Given the description of an element on the screen output the (x, y) to click on. 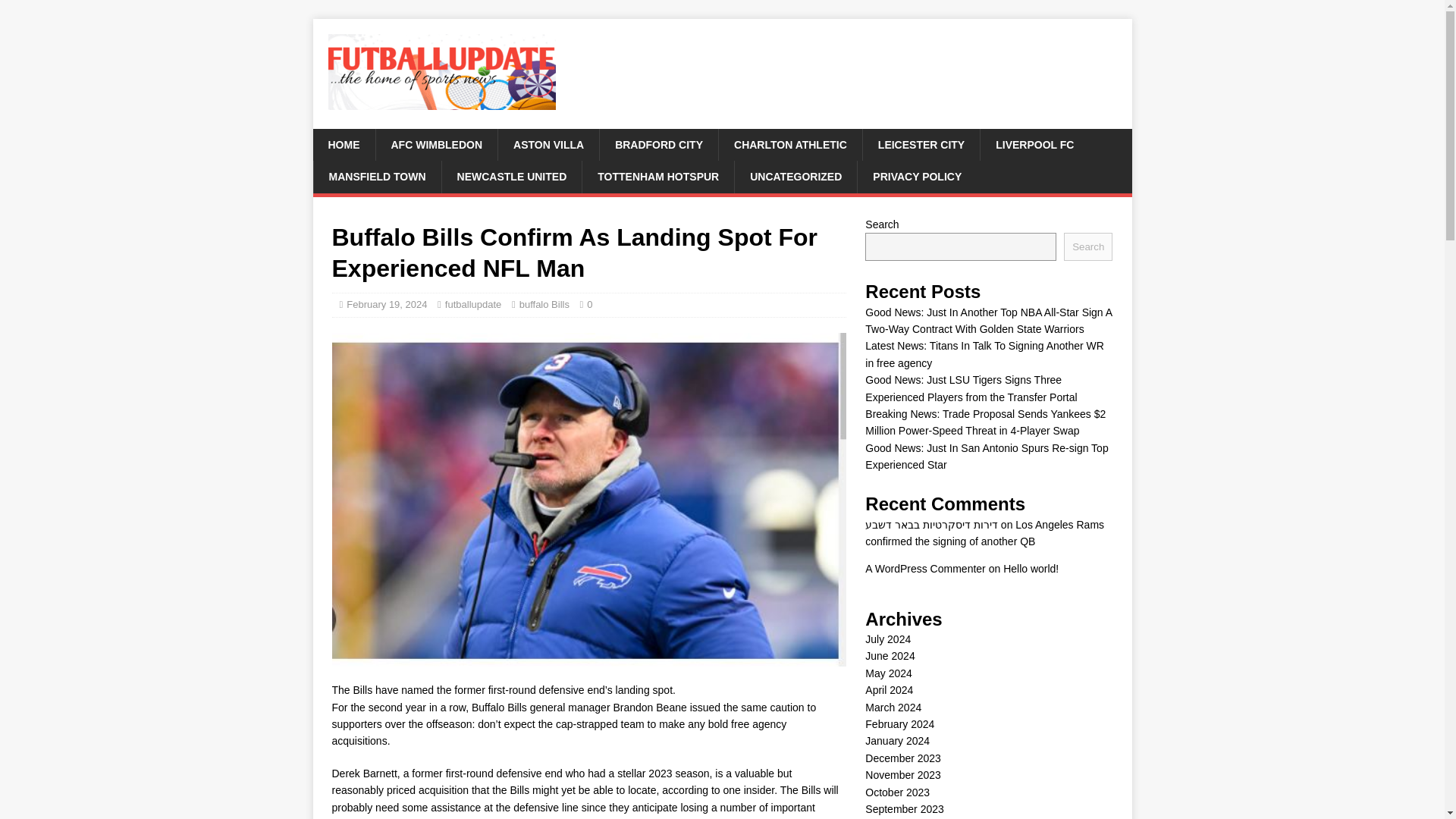
BRADFORD CITY (657, 144)
0 (589, 304)
MANSFIELD TOWN (377, 176)
Search (1088, 246)
LEICESTER CITY (920, 144)
CHARLTON ATHLETIC (789, 144)
LIVERPOOL FC (1034, 144)
futballupdate (472, 304)
TOTTENHAM HOTSPUR (656, 176)
AFC WIMBLEDON (435, 144)
February 19, 2024 (386, 304)
HOME (343, 144)
PRIVACY POLICY (916, 176)
